Given the description of an element on the screen output the (x, y) to click on. 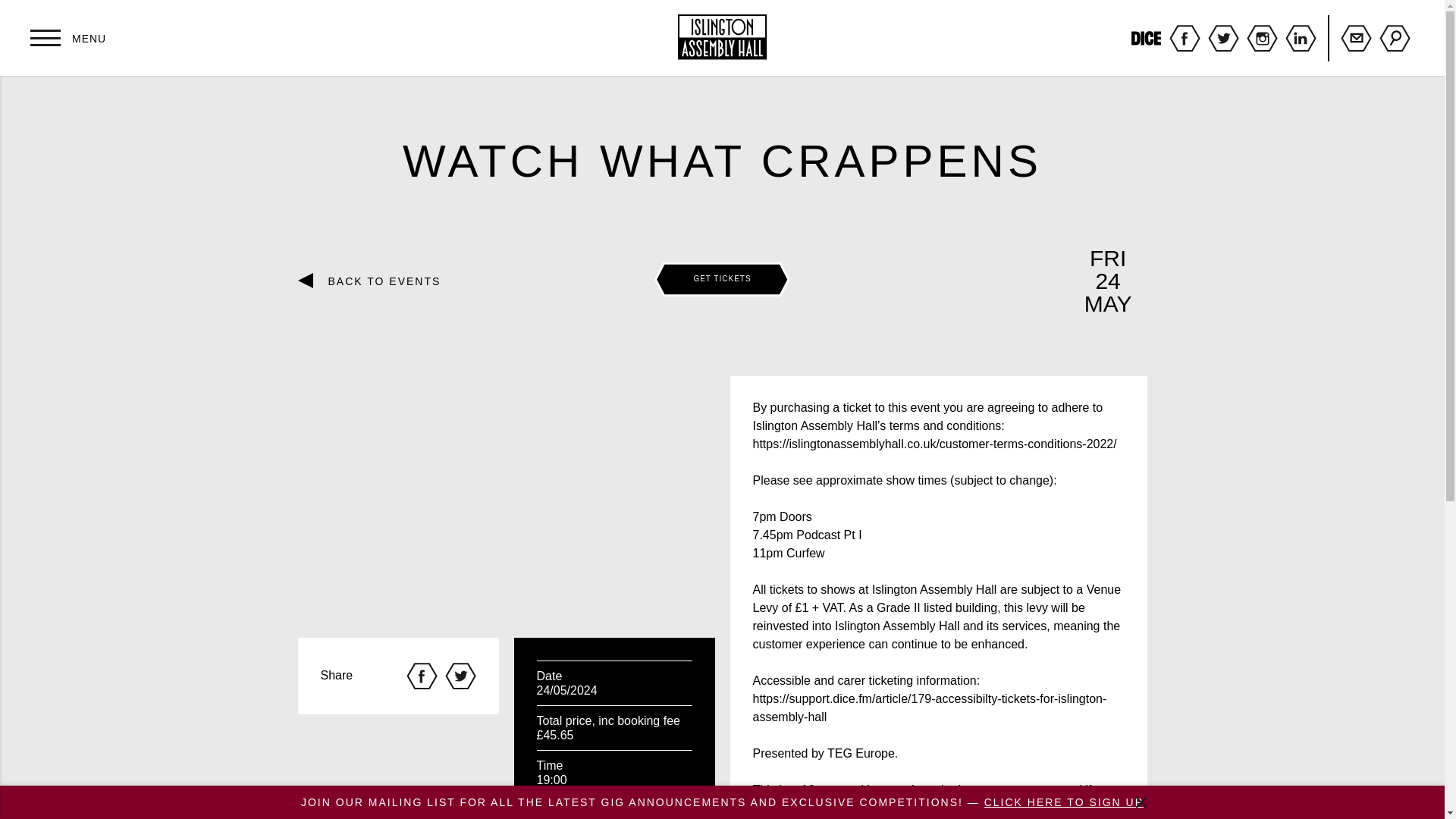
Search (1394, 38)
GET TICKETS (721, 278)
linkedin (1300, 38)
facebook (1184, 38)
Sign up (1355, 38)
instagram (1262, 38)
twitter (1223, 38)
BACK TO EVENTS (377, 281)
